Given the description of an element on the screen output the (x, y) to click on. 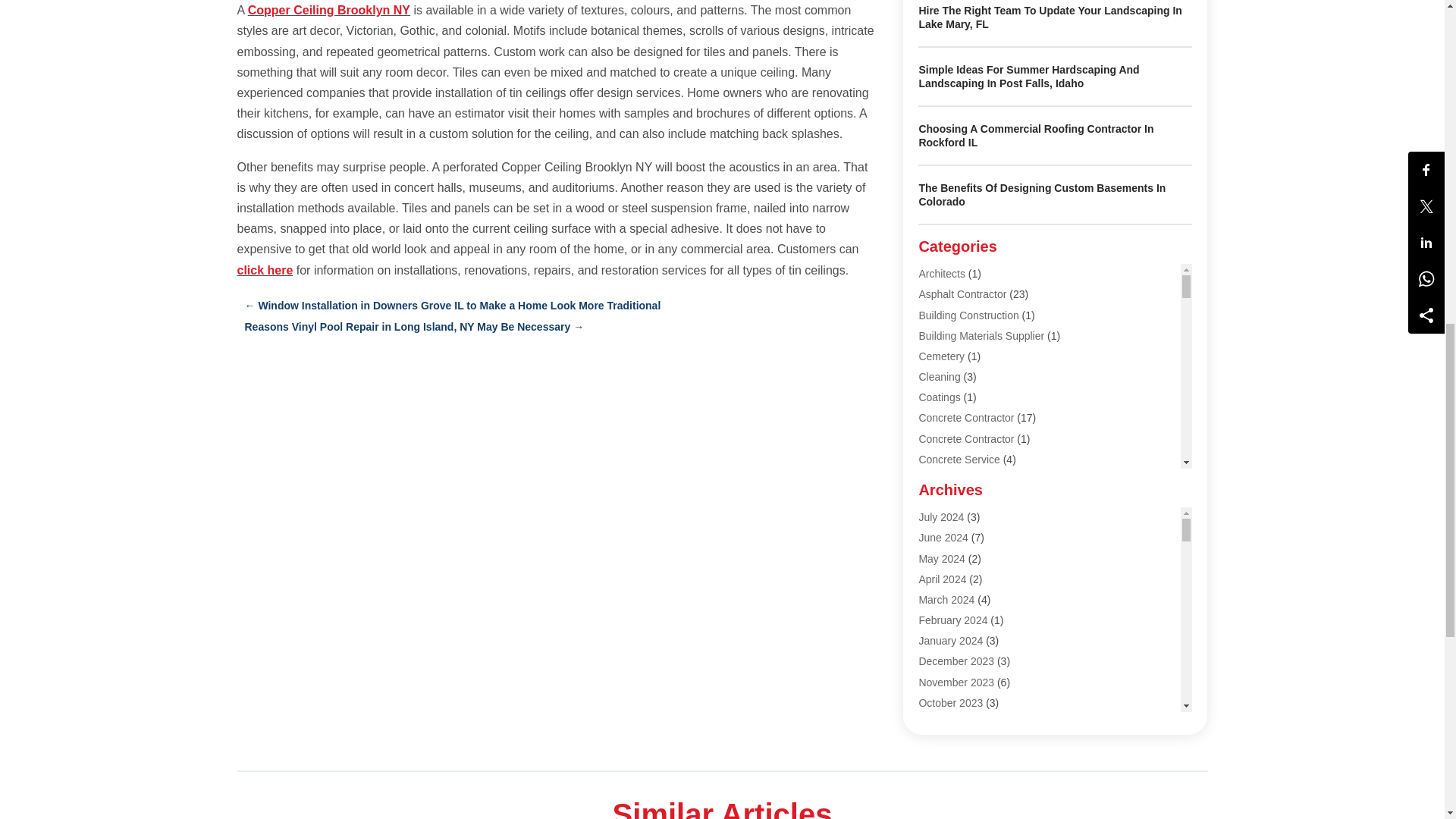
Concrete Service (958, 459)
Building Materials Supplier (980, 336)
Concrete Contractor (965, 439)
Coatings (938, 397)
Asphalt Contractor (962, 294)
Construction And Maintenance (990, 541)
Construction Company (972, 562)
Cemetery (940, 356)
Concrete Contractor (965, 417)
The Benefits Of Designing Custom Basements In Colorado (1042, 194)
Architects (940, 273)
Cleaning (938, 377)
Copper Ceiling Brooklyn NY (328, 10)
